Given the description of an element on the screen output the (x, y) to click on. 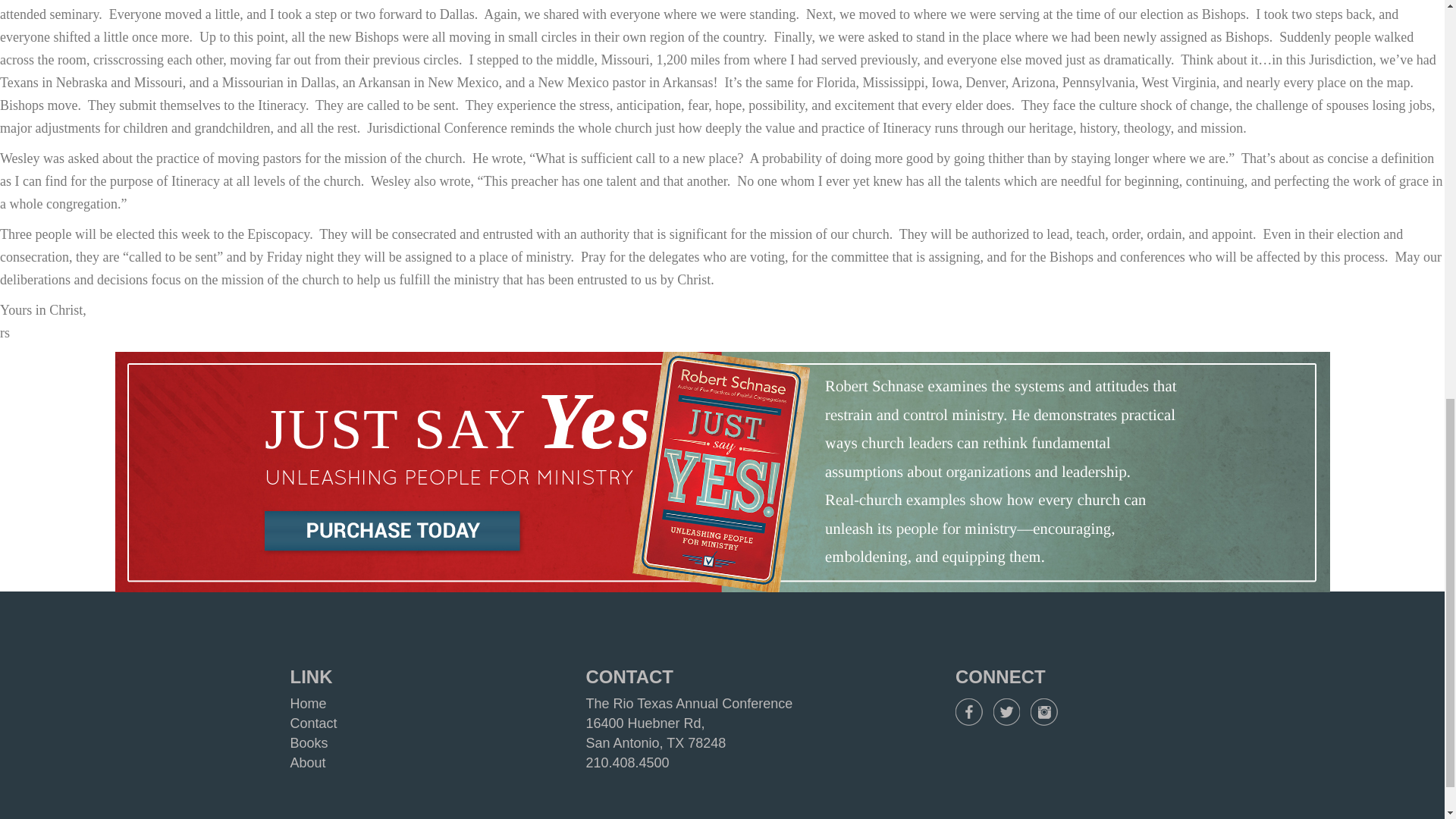
About (306, 762)
Books (308, 743)
Home (307, 703)
Contact (312, 723)
210.408.4500 (626, 762)
